Given the description of an element on the screen output the (x, y) to click on. 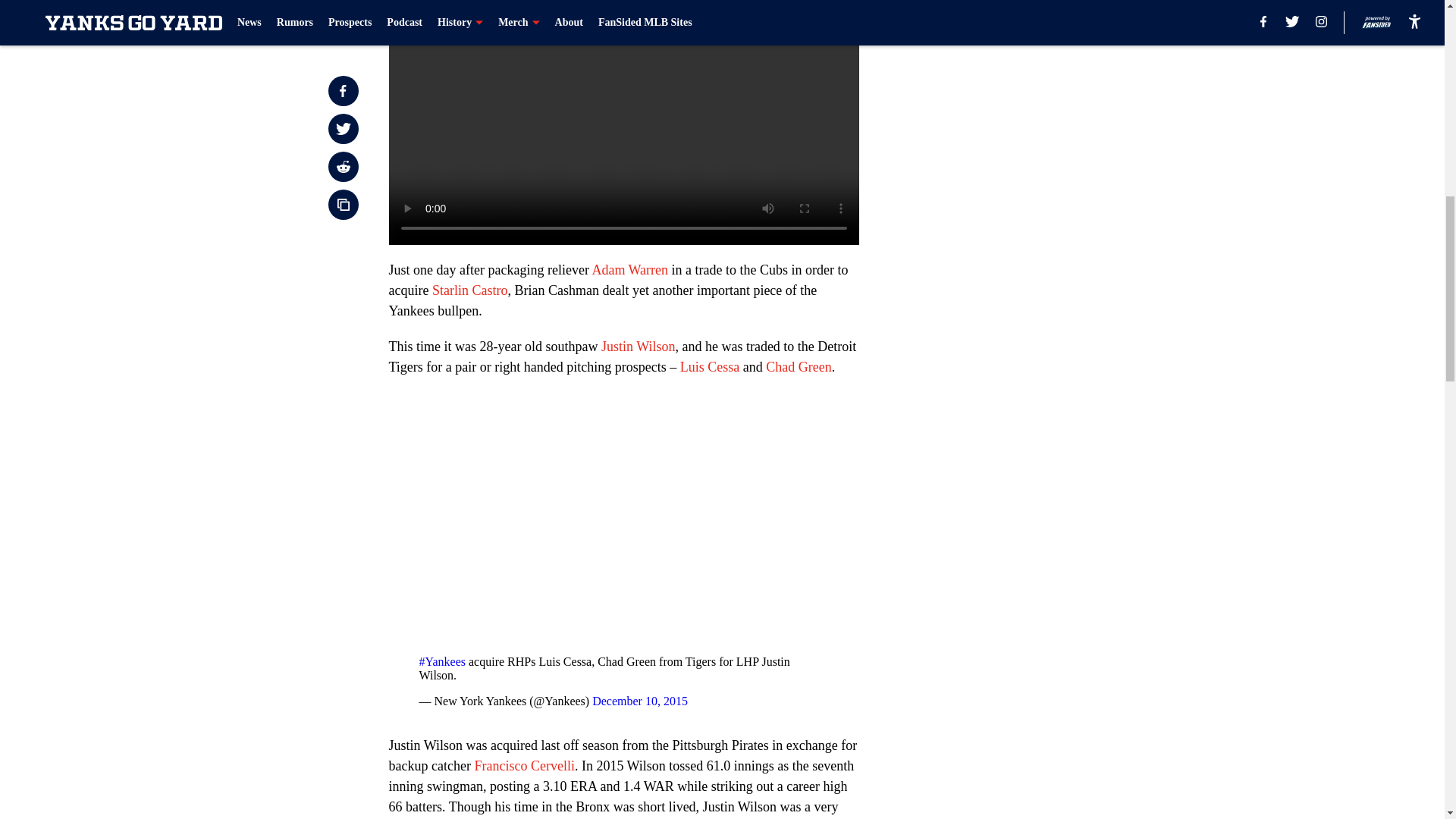
Luis Cessa (709, 366)
December 10, 2015 (639, 700)
Adam Warren (629, 269)
Justin Wilson (638, 346)
Starlin Castro (470, 290)
Francisco Cervelli (523, 765)
3rd party ad content (1047, 84)
3rd party ad content (1047, 294)
Chad Green (798, 366)
